Given the description of an element on the screen output the (x, y) to click on. 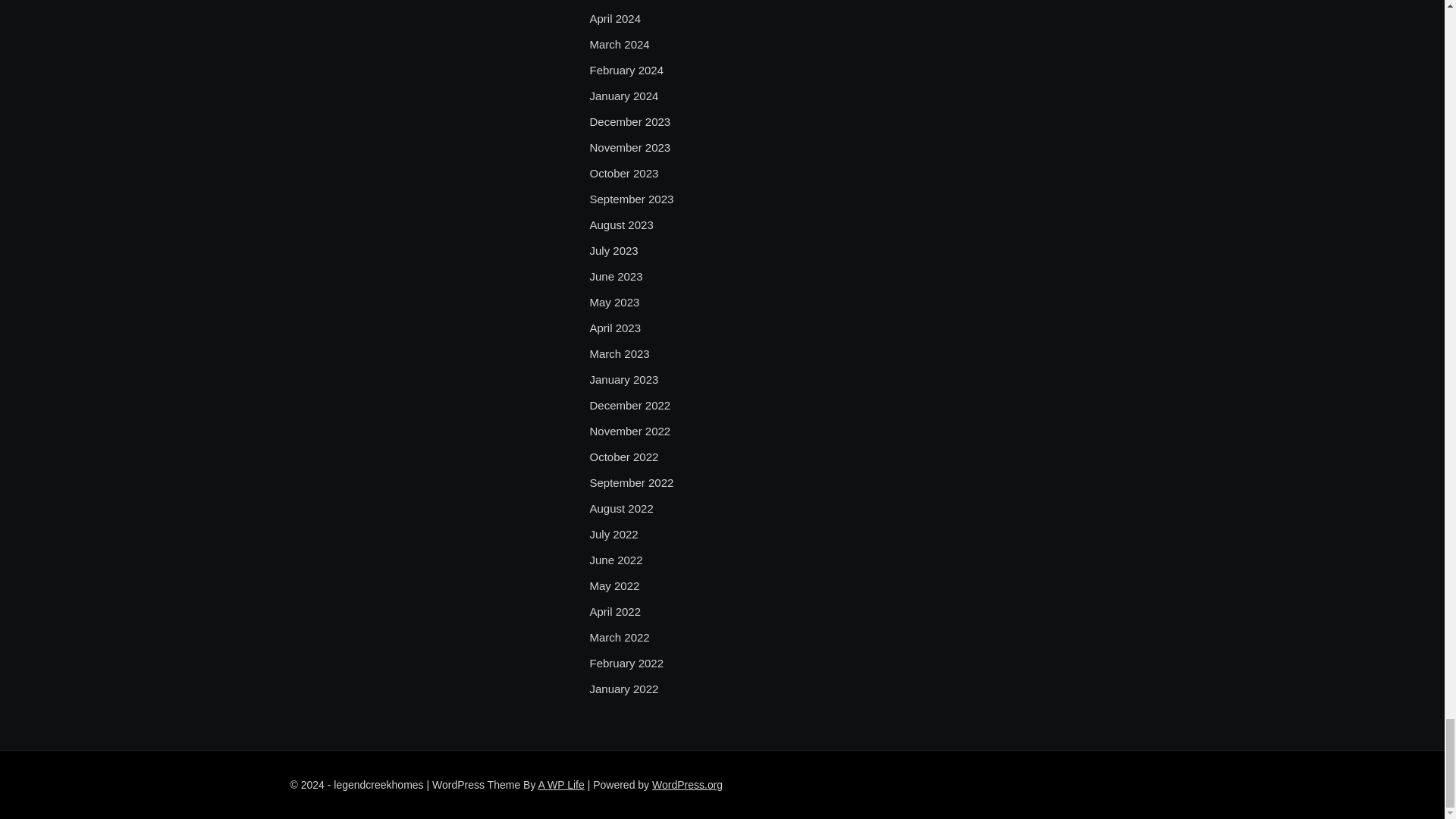
May 2024 (614, 1)
April 2024 (614, 18)
